Given the description of an element on the screen output the (x, y) to click on. 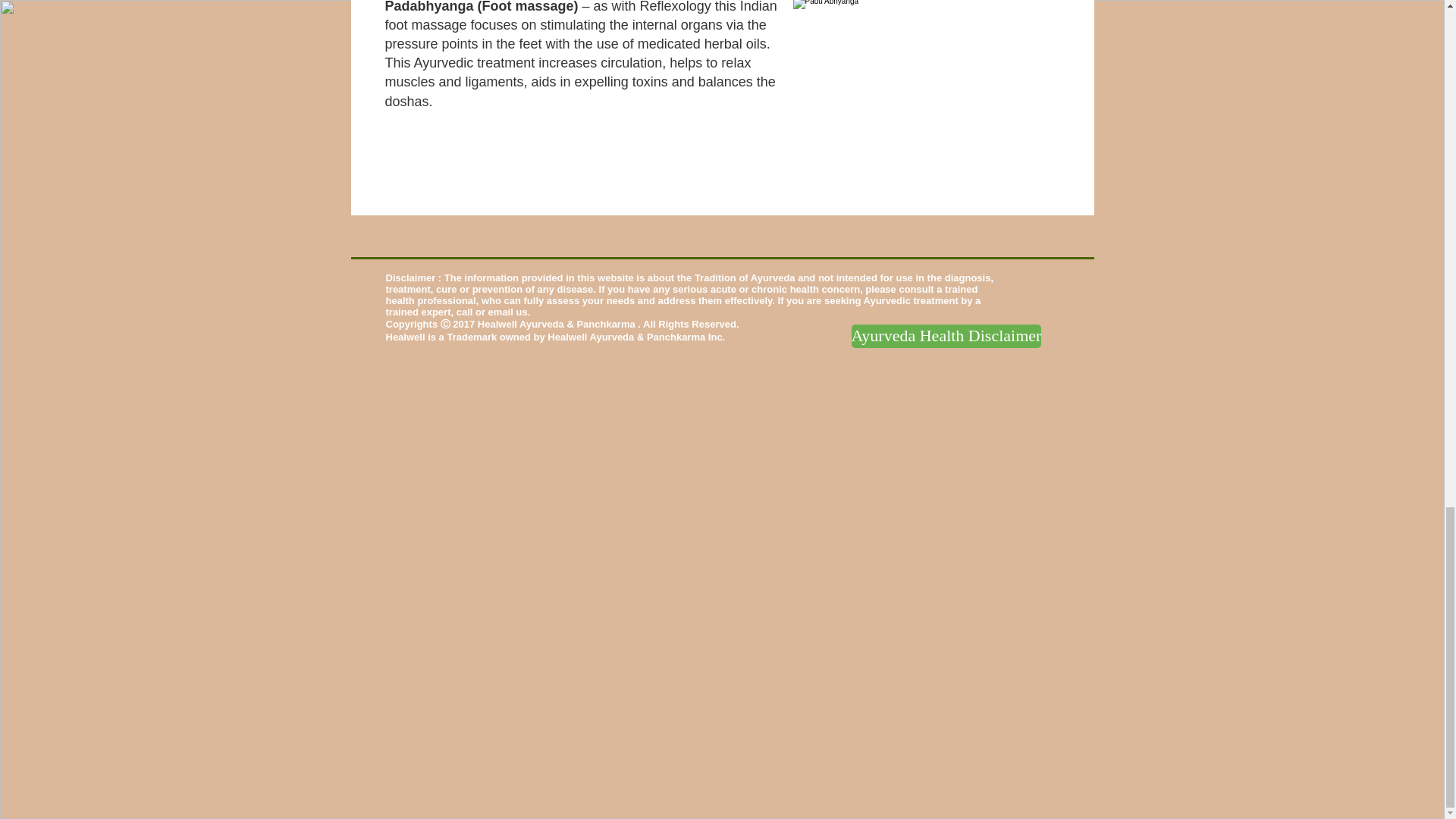
Ayurvedic Foot Massage (900, 61)
